Given the description of an element on the screen output the (x, y) to click on. 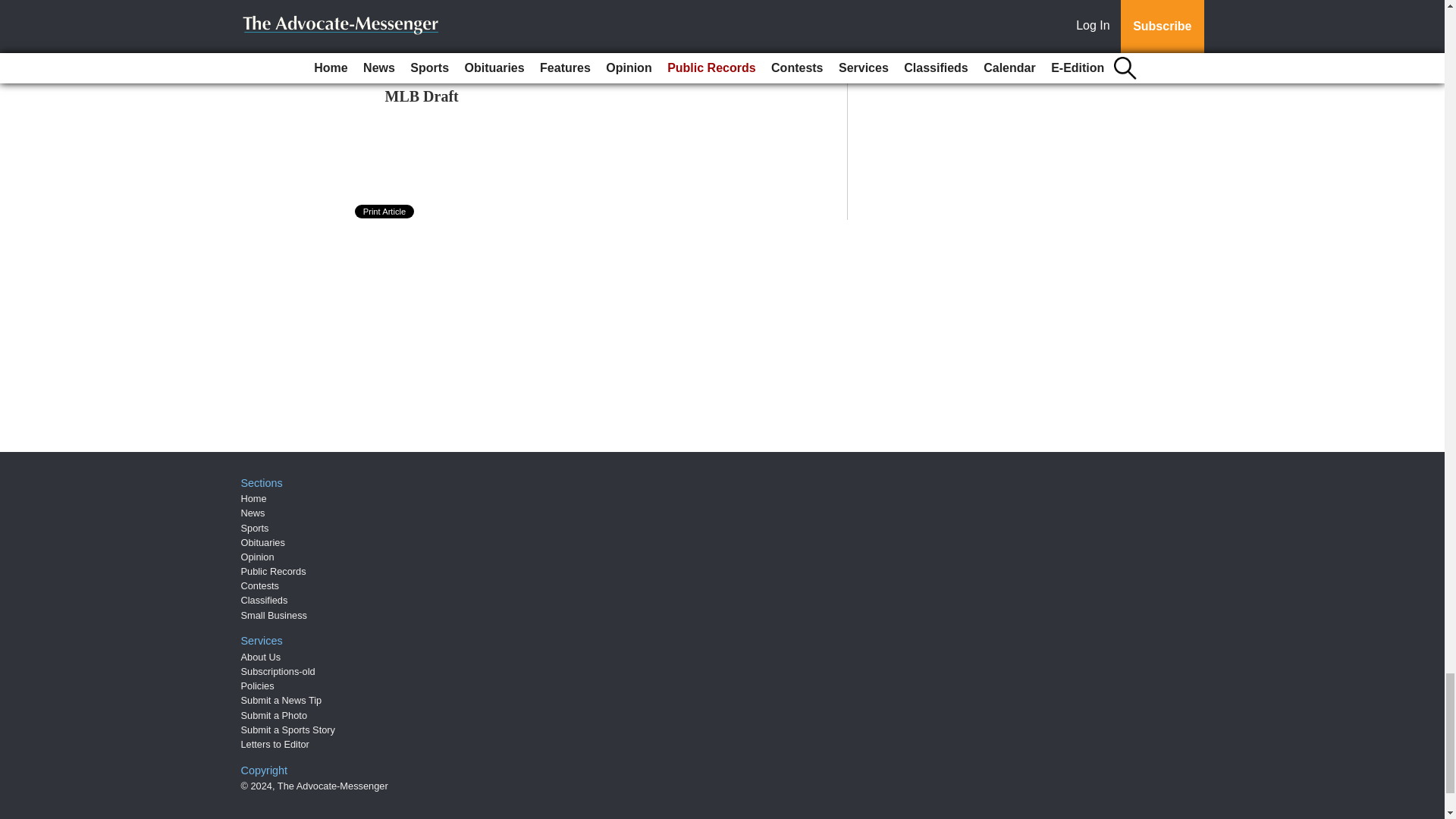
Print Article (384, 211)
